Given the description of an element on the screen output the (x, y) to click on. 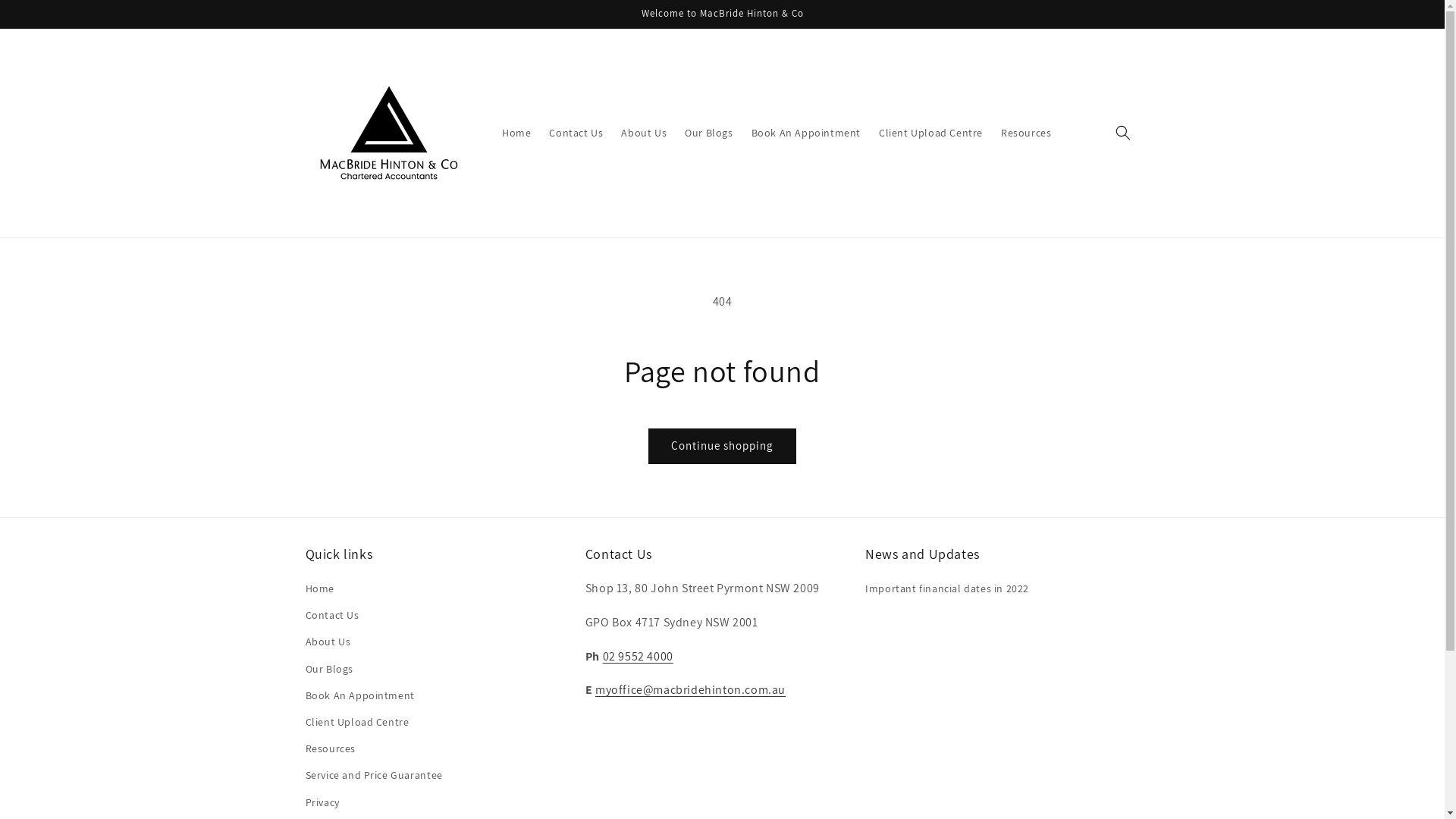
Privacy Element type: text (321, 802)
02 9552 4000 Element type: text (637, 656)
Service and Price Guarantee Element type: text (373, 775)
Book An Appointment Element type: text (805, 132)
Home Element type: text (318, 590)
Our Blogs Element type: text (708, 132)
Resources Element type: text (1025, 132)
Client Upload Centre Element type: text (356, 722)
Home Element type: text (515, 132)
Contact Us Element type: text (575, 132)
About Us Element type: text (327, 641)
Our Blogs Element type: text (328, 668)
Contact Us Element type: text (331, 615)
Resources Element type: text (329, 748)
myoffice@macbridehinton.com.au Element type: text (690, 689)
Important financial dates in 2022 Element type: text (947, 590)
Book An Appointment Element type: text (359, 695)
Client Upload Centre Element type: text (930, 132)
Continue shopping Element type: text (722, 446)
About Us Element type: text (643, 132)
